Given the description of an element on the screen output the (x, y) to click on. 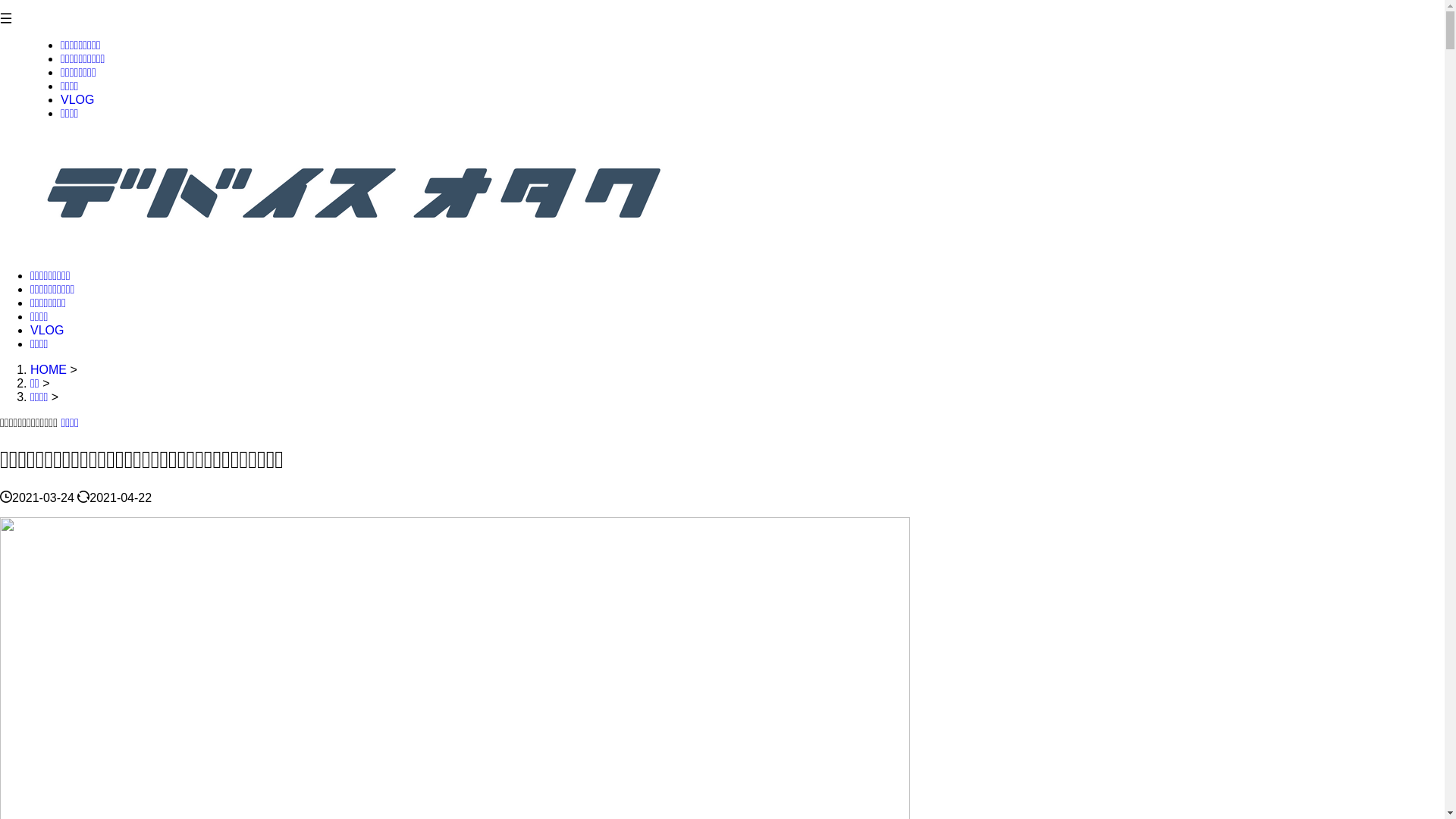
VLOG Element type: text (46, 329)
VLOG Element type: text (77, 99)
HOME Element type: text (49, 369)
